Given the description of an element on the screen output the (x, y) to click on. 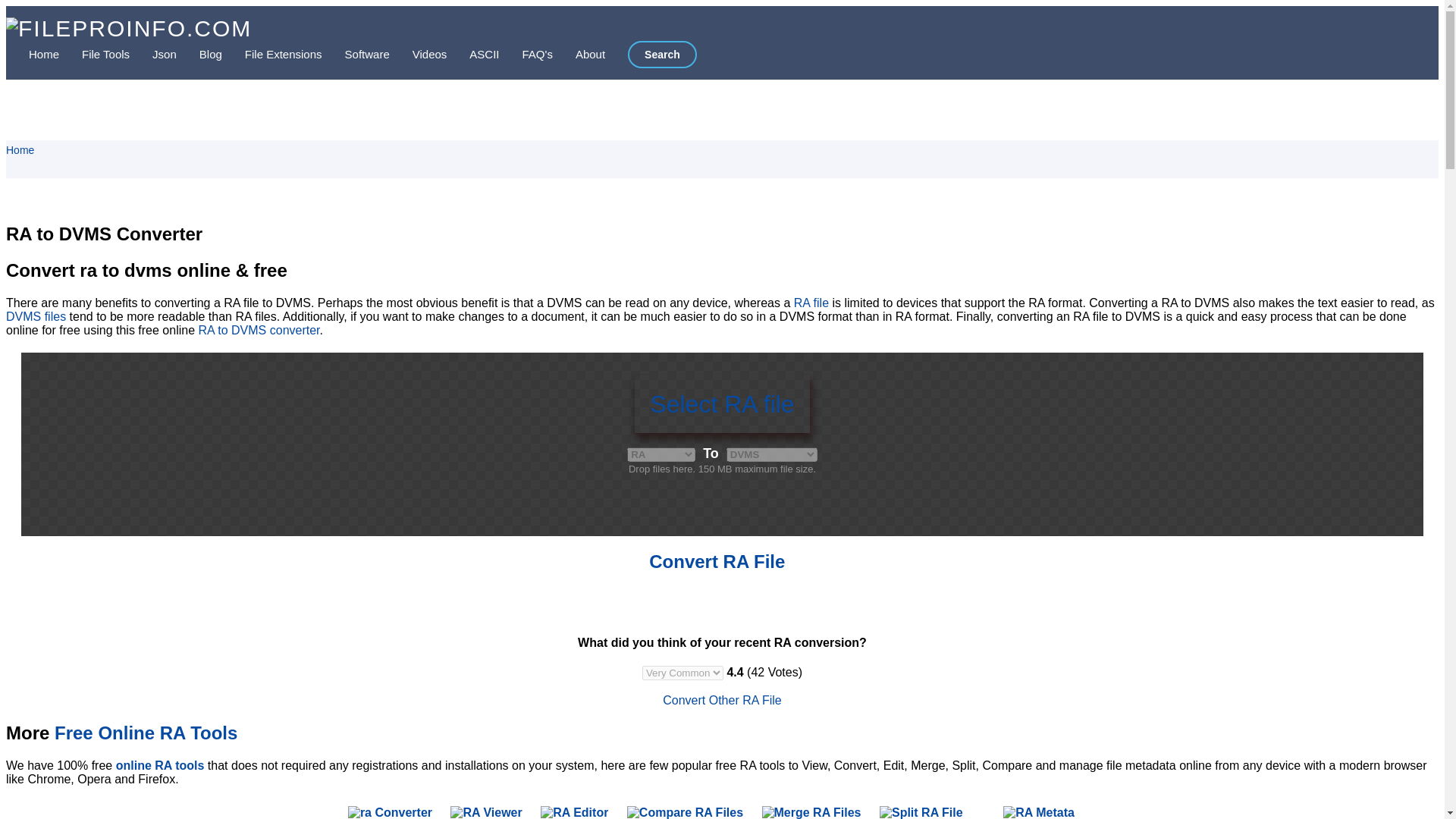
FileProInfo tech blog (199, 53)
RA Converter. (389, 812)
About (579, 53)
ra Converter online free (389, 812)
free online ra tools (146, 732)
ASCII table (472, 53)
Free Online RA Tools (146, 732)
RA to DVMS converter (258, 329)
Video tutorials (418, 53)
Software (355, 53)
Convert Other RA File (721, 699)
FAQ's (526, 53)
Secure online document tools (94, 53)
online RA tools (160, 765)
About (579, 53)
